Given the description of an element on the screen output the (x, y) to click on. 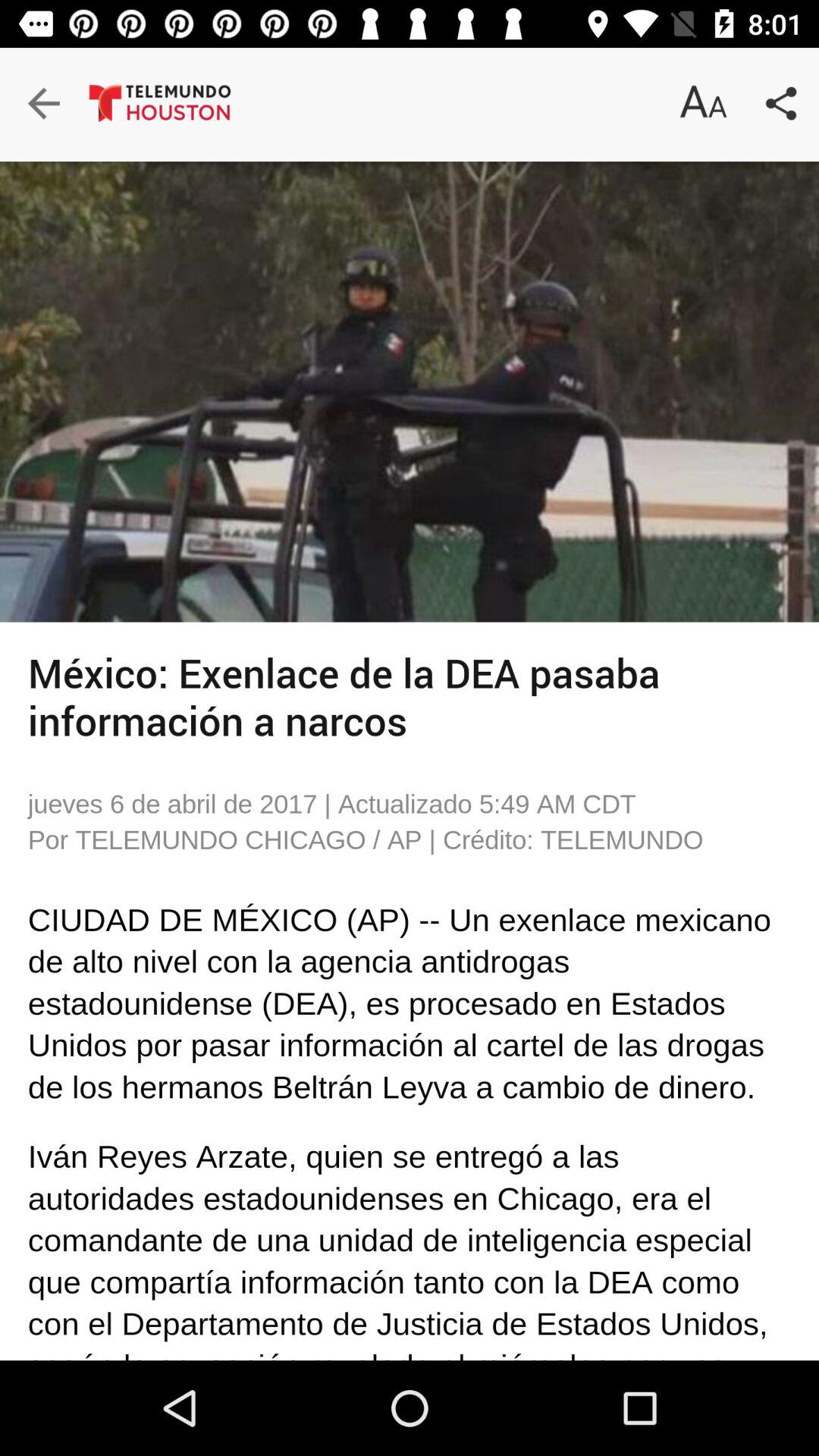
click on the back arrow in top left corner (61, 106)
click on the text below ciudad (75, 957)
